Given the description of an element on the screen output the (x, y) to click on. 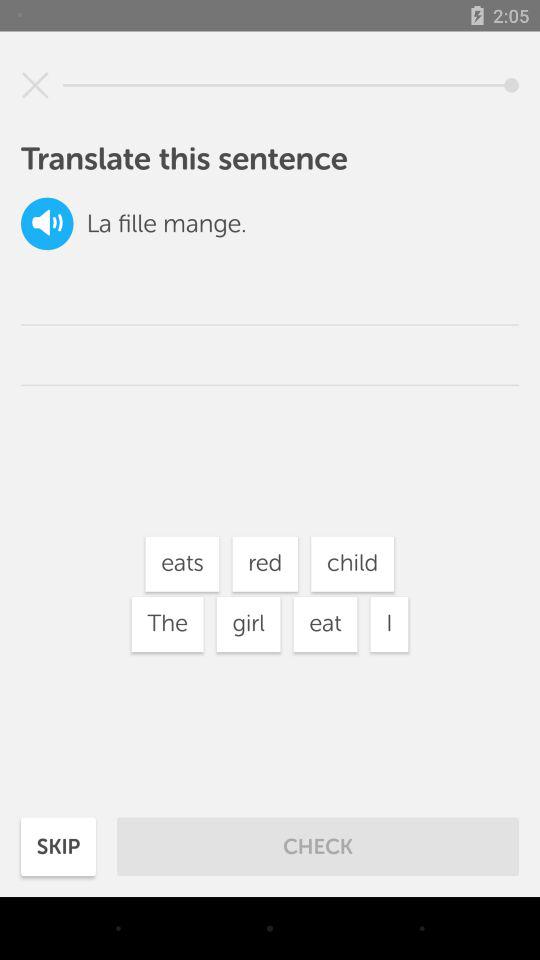
flip until the the icon (167, 624)
